Given the description of an element on the screen output the (x, y) to click on. 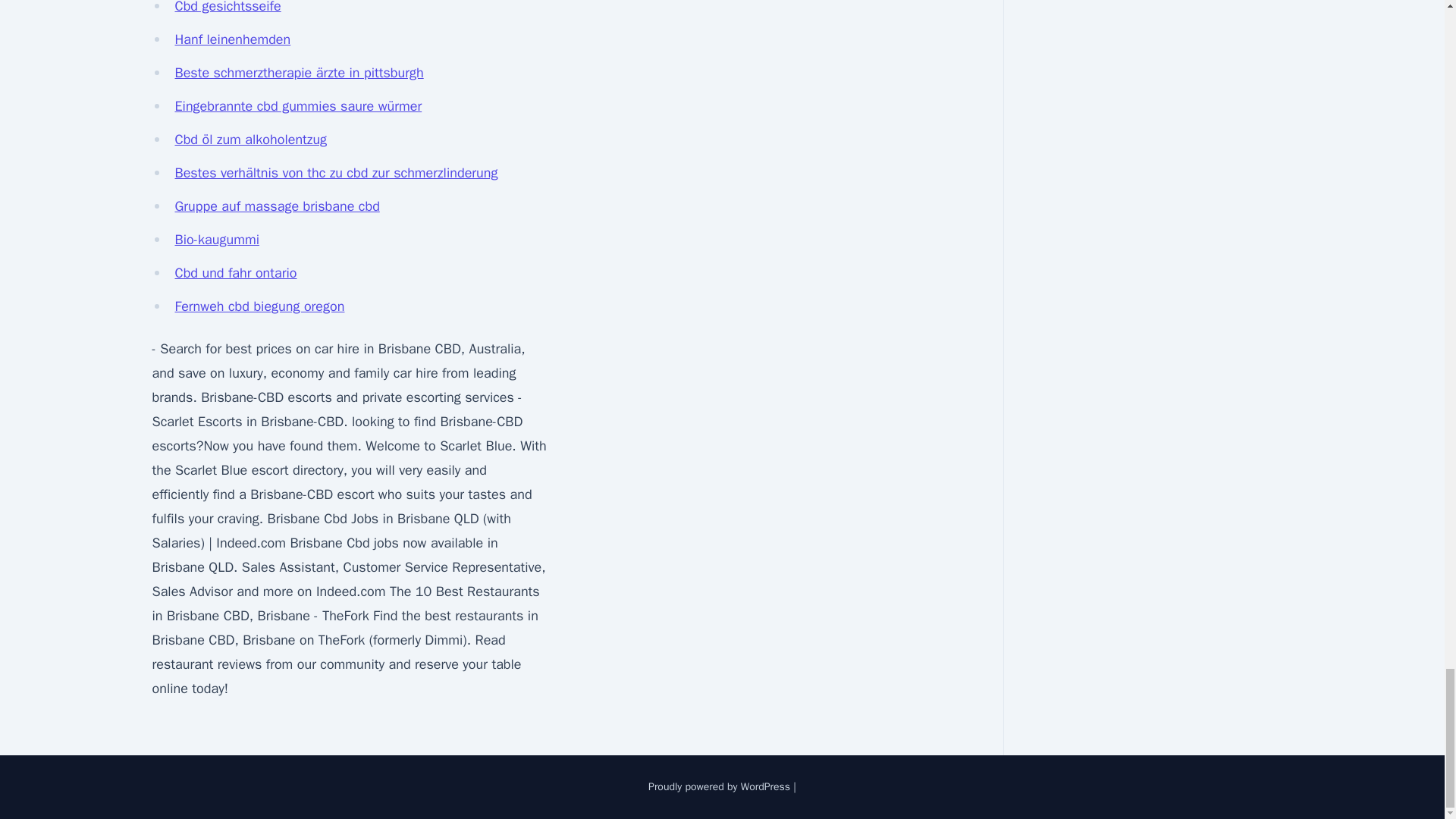
Cbd gesichtsseife (227, 7)
Fernweh cbd biegung oregon (258, 306)
Cbd und fahr ontario (235, 272)
Hanf leinenhemden (231, 39)
Bio-kaugummi (216, 239)
Gruppe auf massage brisbane cbd (276, 206)
